Given the description of an element on the screen output the (x, y) to click on. 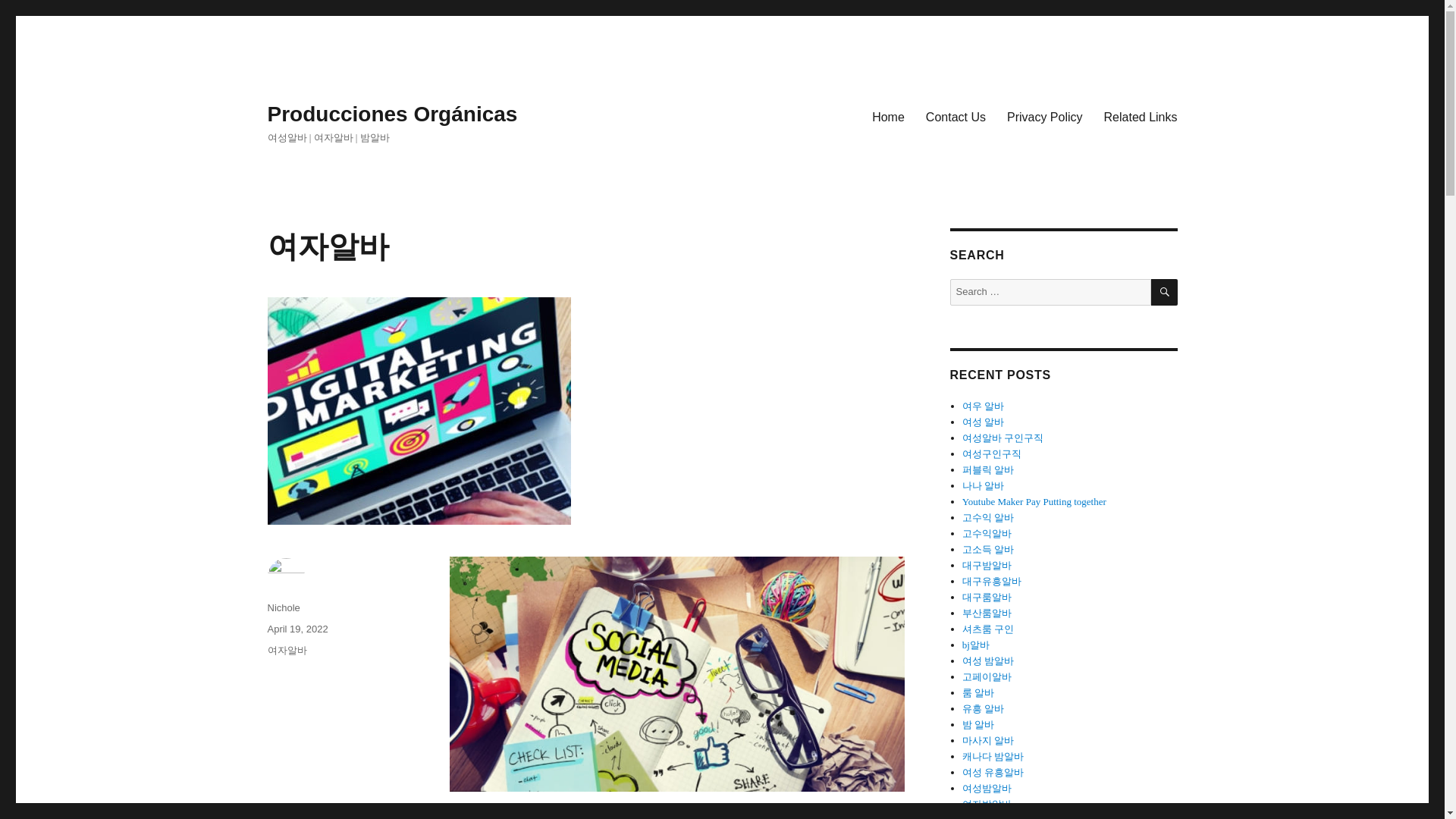
Privacy Policy (1044, 116)
April 19, 2022 (296, 628)
Related Links (1140, 116)
Home (888, 116)
Nichole (282, 607)
Contact Us (955, 116)
SEARCH (1164, 292)
Youtube Maker Pay Putting together (1034, 501)
